Given the description of an element on the screen output the (x, y) to click on. 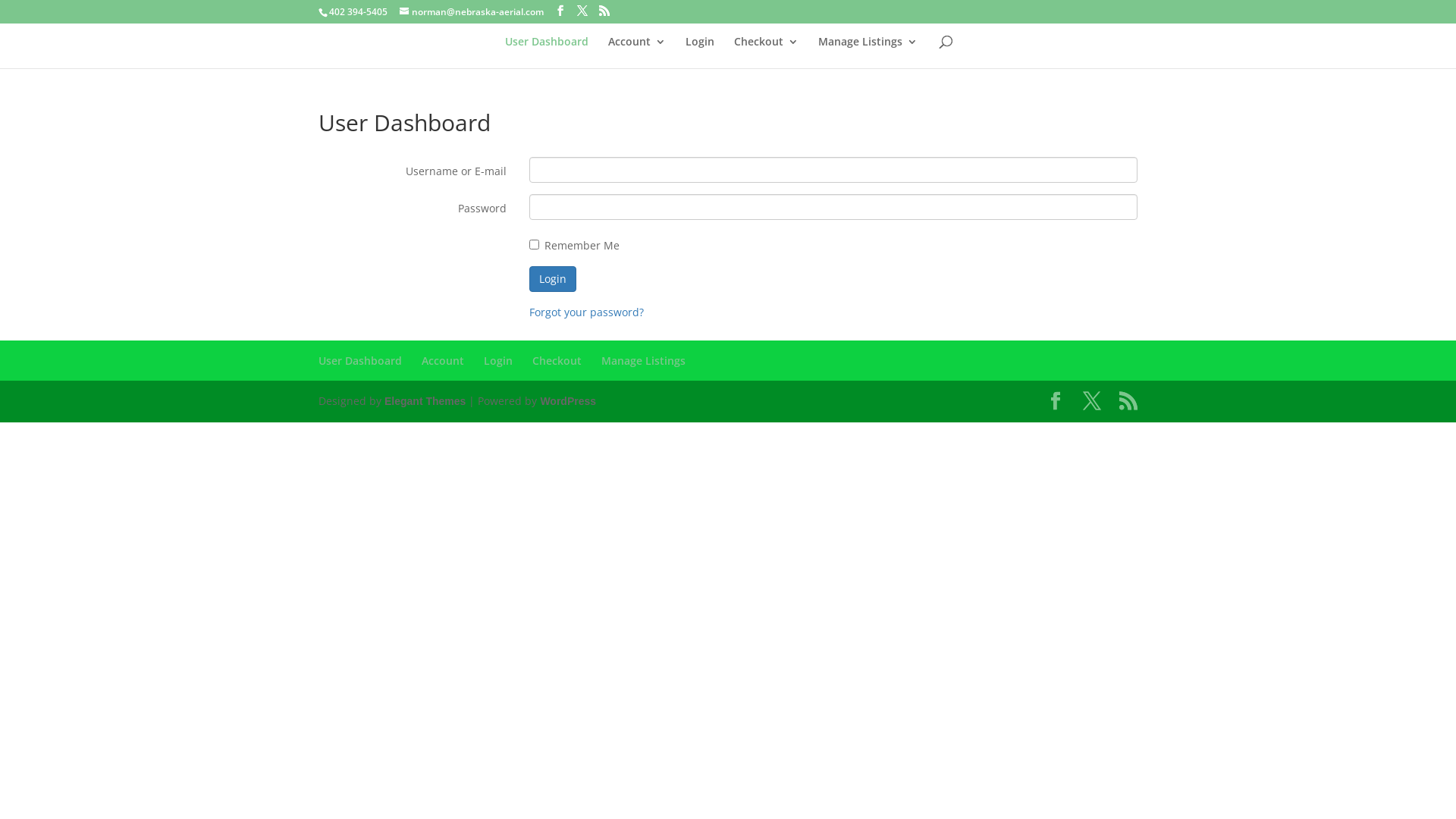
norman@nebraska-aerial.com Element type: text (471, 11)
Checkout Element type: text (556, 360)
Login Element type: text (497, 360)
WordPress Element type: text (567, 401)
Account Element type: text (442, 360)
Manage Listings Element type: text (867, 52)
User Dashboard Element type: text (546, 52)
Login Element type: text (552, 278)
Elegant Themes Element type: text (424, 401)
User Dashboard Element type: text (359, 360)
Forgot your password? Element type: text (586, 311)
Manage Listings Element type: text (643, 360)
Checkout Element type: text (766, 52)
Account Element type: text (636, 52)
Login Element type: text (699, 52)
